Given the description of an element on the screen output the (x, y) to click on. 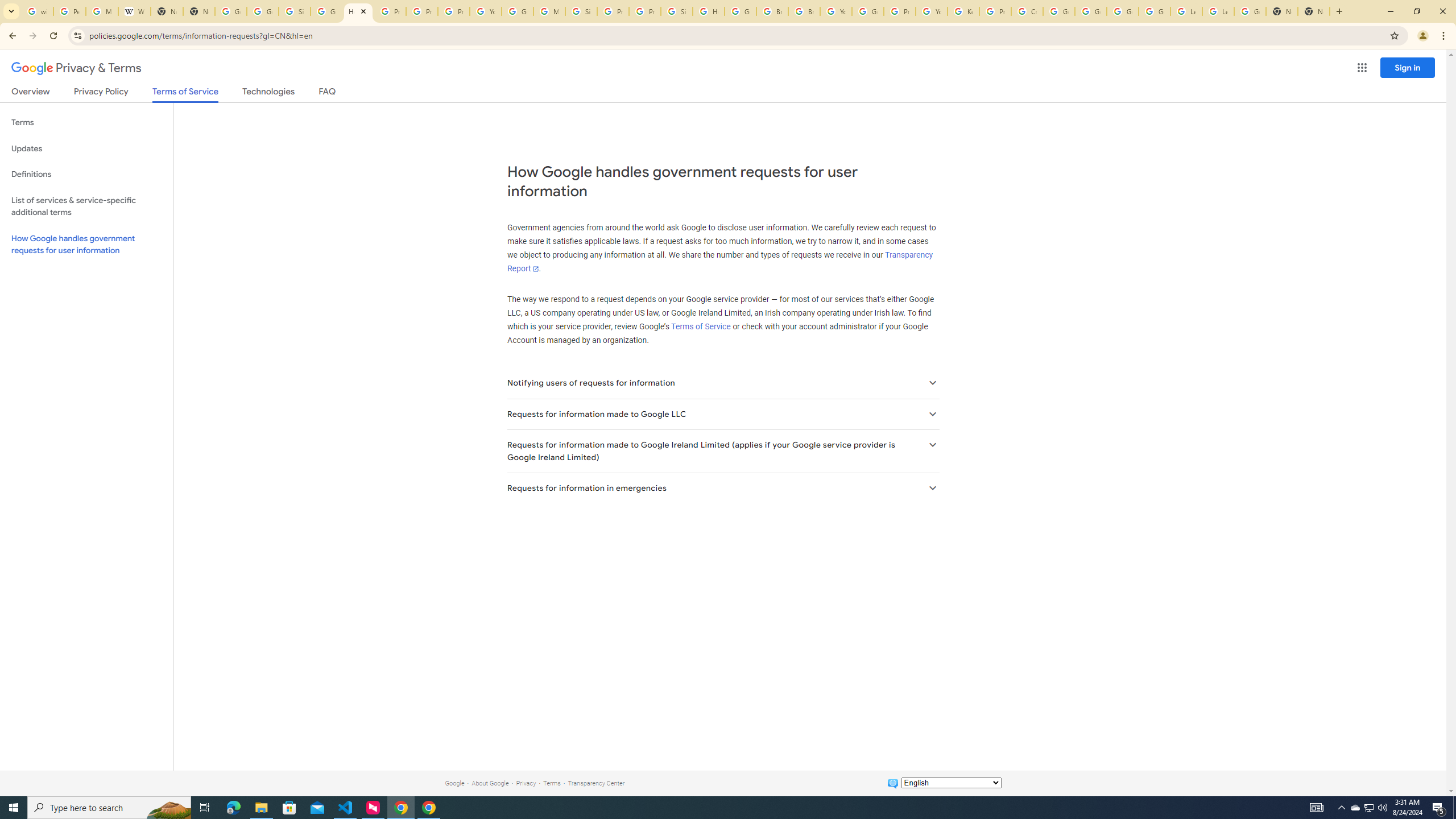
Google Account Help (1059, 11)
Change language: (951, 782)
Personalization & Google Search results - Google Search Help (69, 11)
Google Account (1249, 11)
Google Account Help (868, 11)
Google Account Help (517, 11)
